Given the description of an element on the screen output the (x, y) to click on. 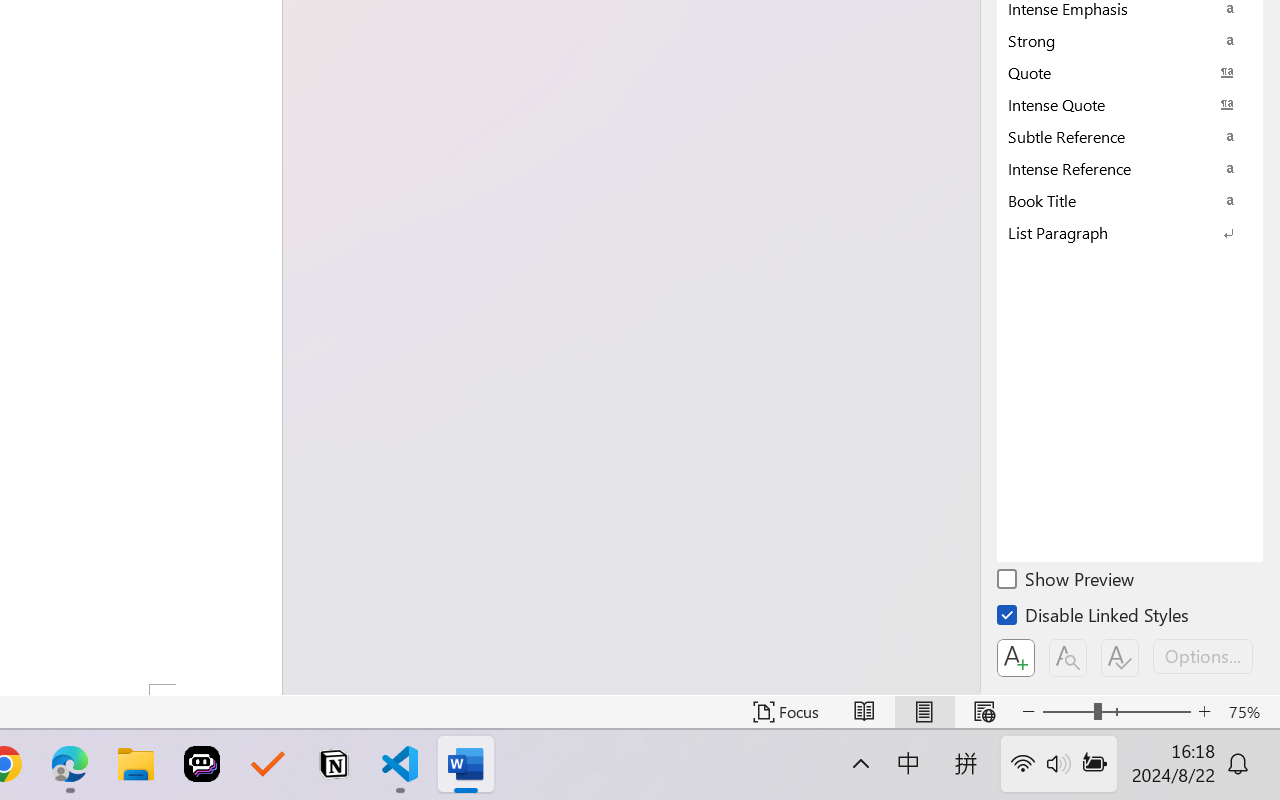
Book Title (1130, 200)
Show Preview (1067, 582)
